Given the description of an element on the screen output the (x, y) to click on. 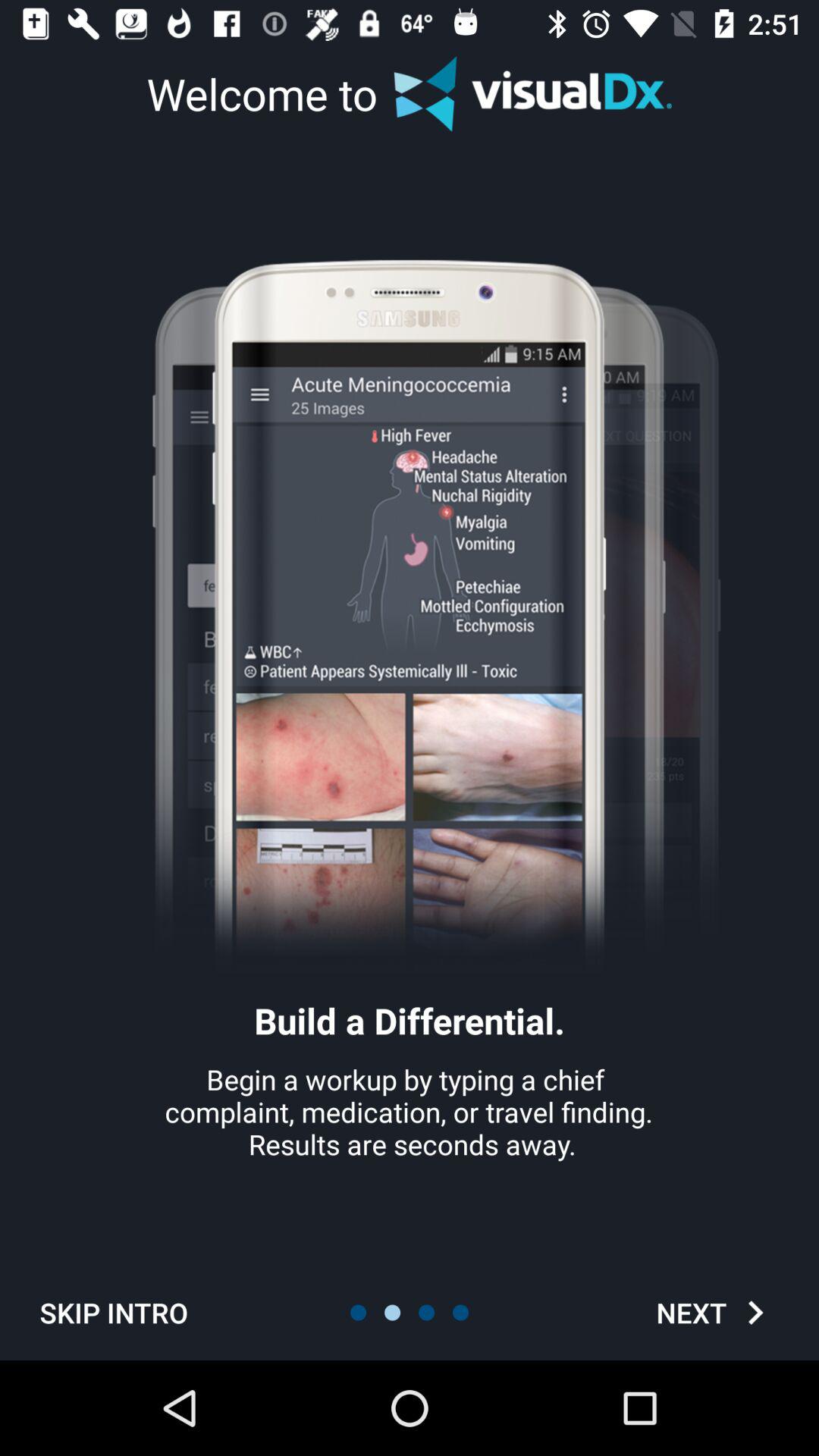
open icon below the begin a workup (715, 1312)
